Given the description of an element on the screen output the (x, y) to click on. 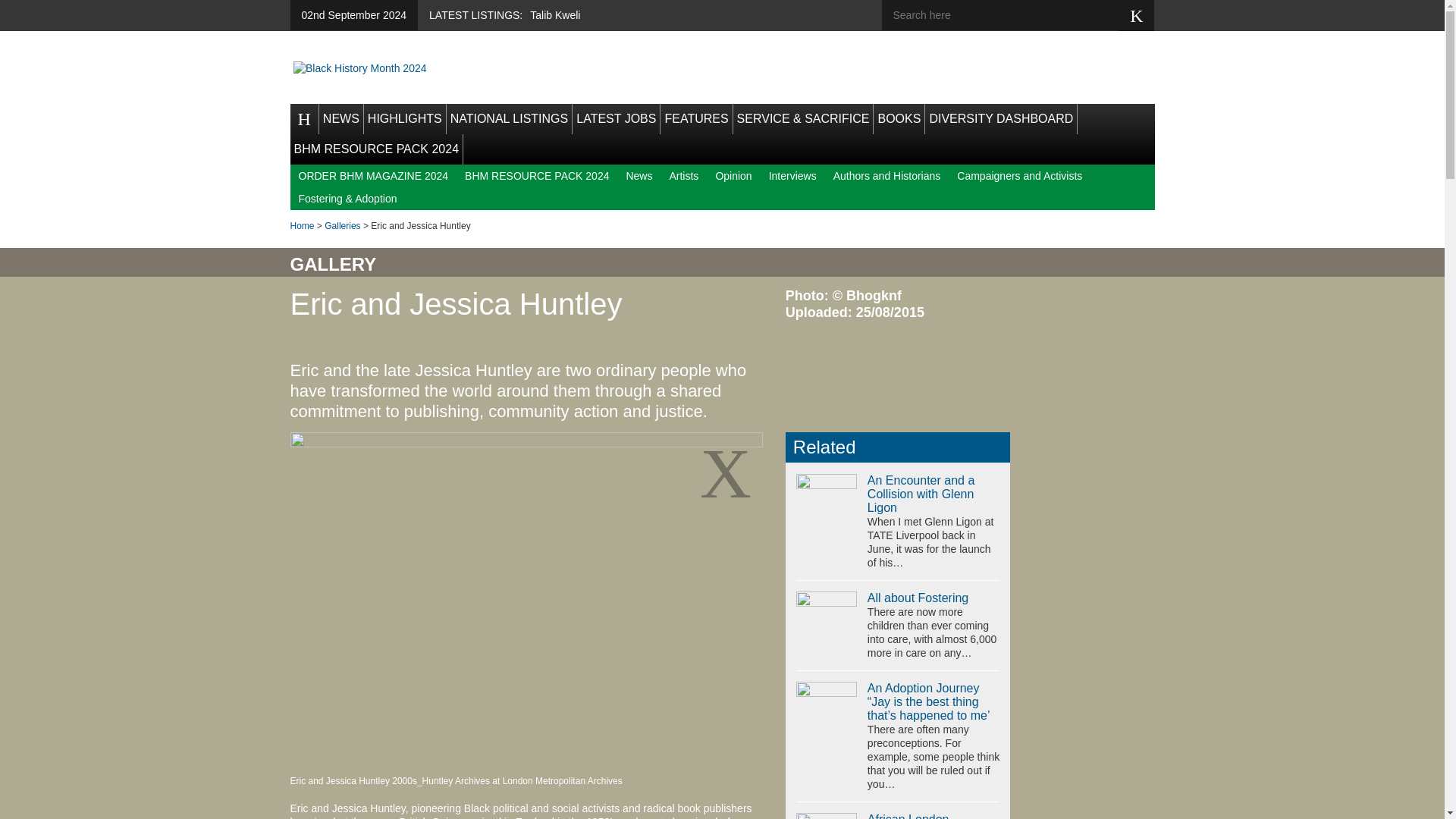
An Encounter and a Collision with Glenn Ligon (826, 495)
All about Fostering (917, 597)
African London (826, 816)
African London (908, 816)
Black History Month 2024: Black History Month 2024 (437, 68)
All about Fostering (826, 612)
Search here (1010, 15)
An Encounter and a Collision with Glenn Ligon (920, 494)
Talib Kweli (554, 15)
